Given the description of an element on the screen output the (x, y) to click on. 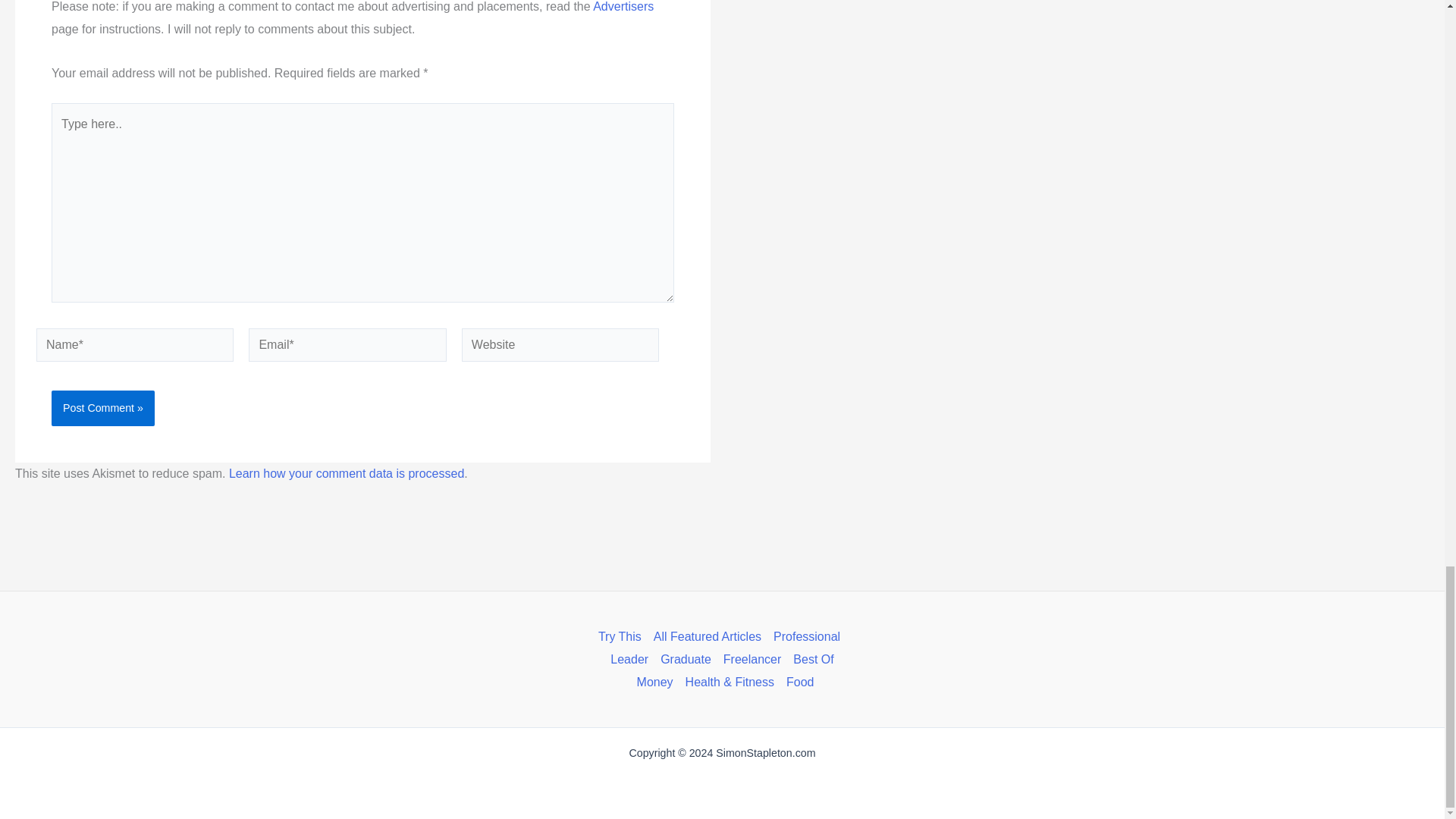
Advertisers (622, 6)
Learn how your comment data is processed (346, 472)
